Given the description of an element on the screen output the (x, y) to click on. 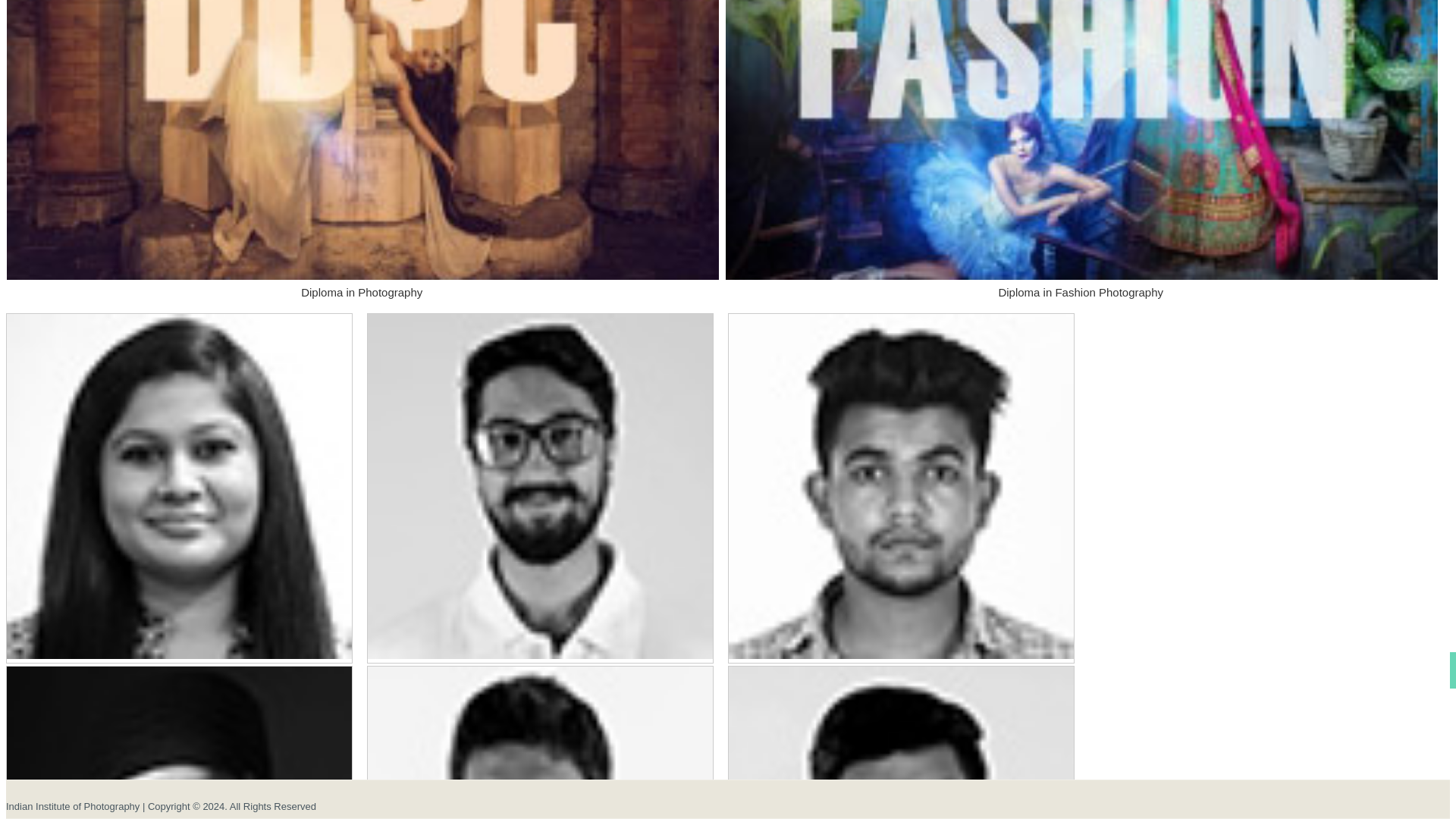
IIPian Himish Goyal (901, 742)
IIPian Harshit Singh (901, 486)
IIPian Divya Jain (179, 486)
Diploma in Photography (362, 284)
IIPian Chatar Singh (179, 742)
Diploma in Fashion Photography (1081, 284)
IIPian Raaj Kiran (540, 742)
IIPian Mayank Juyal (540, 486)
